Given the description of an element on the screen output the (x, y) to click on. 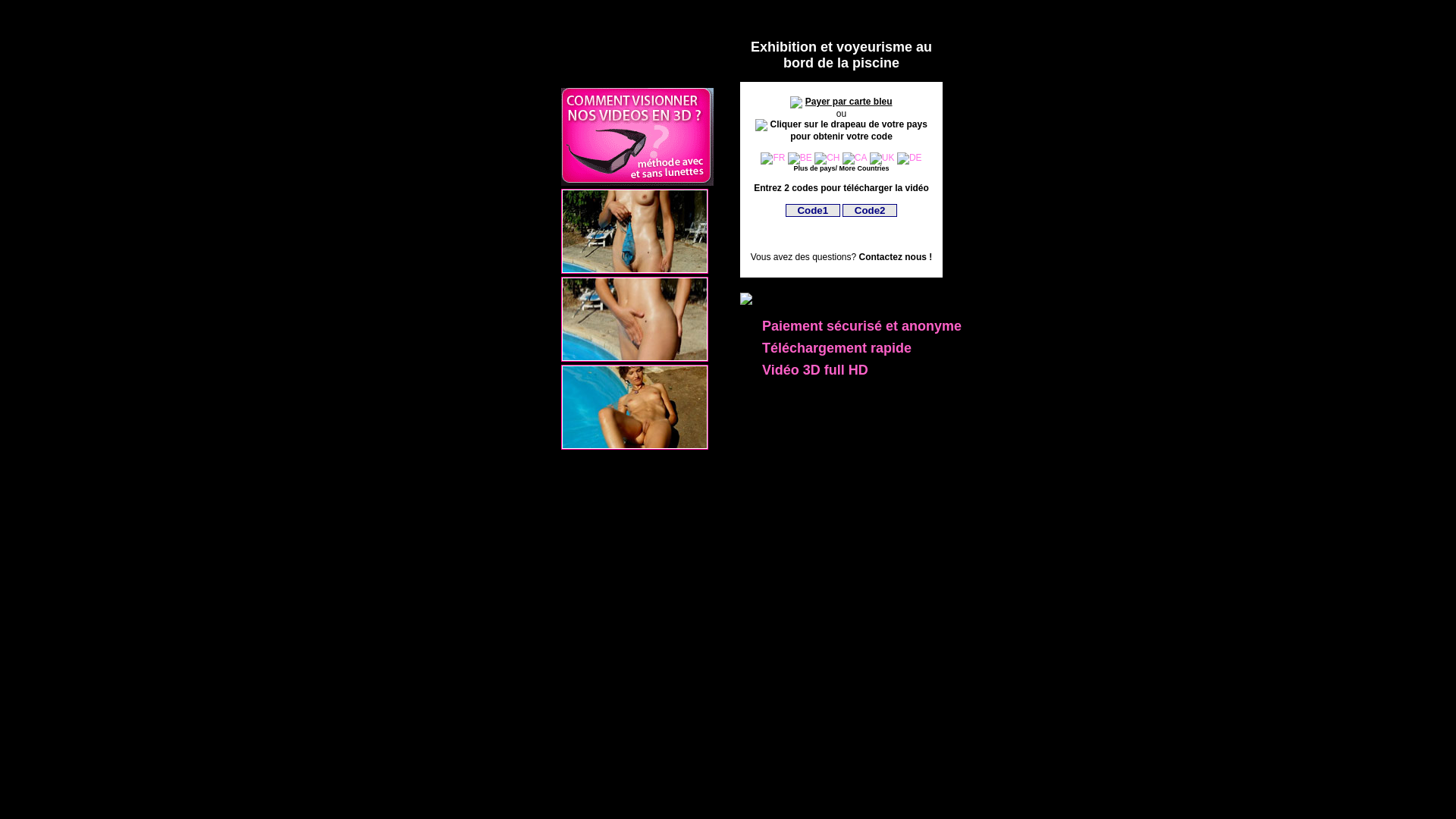
FR Element type: hover (772, 158)
UK Element type: hover (881, 158)
CH Element type: hover (826, 158)
DE Element type: hover (909, 158)
CA Element type: hover (854, 158)
Payer par carte bleu Element type: text (848, 101)
Plus de pays/ More Countries Element type: text (840, 168)
BE Element type: hover (799, 158)
Contactez nous ! Element type: text (895, 256)
